Given the description of an element on the screen output the (x, y) to click on. 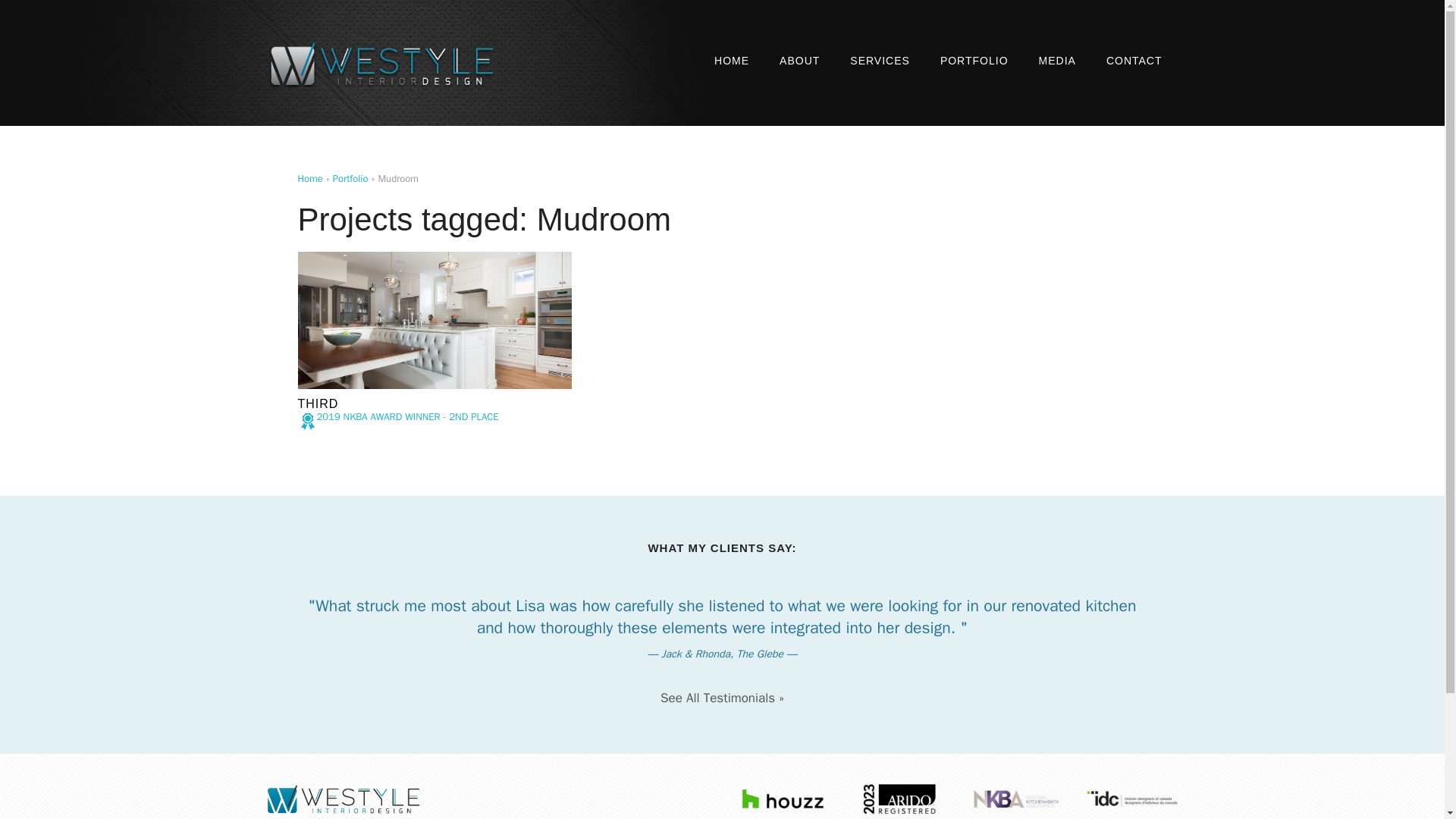
CONTACT (1133, 60)
HOME (731, 60)
Portfolio (350, 178)
SERVICES (879, 60)
ABOUT (799, 60)
PORTFOLIO (973, 60)
Home (309, 178)
MEDIA (1056, 60)
THIRD (317, 403)
